Given the description of an element on the screen output the (x, y) to click on. 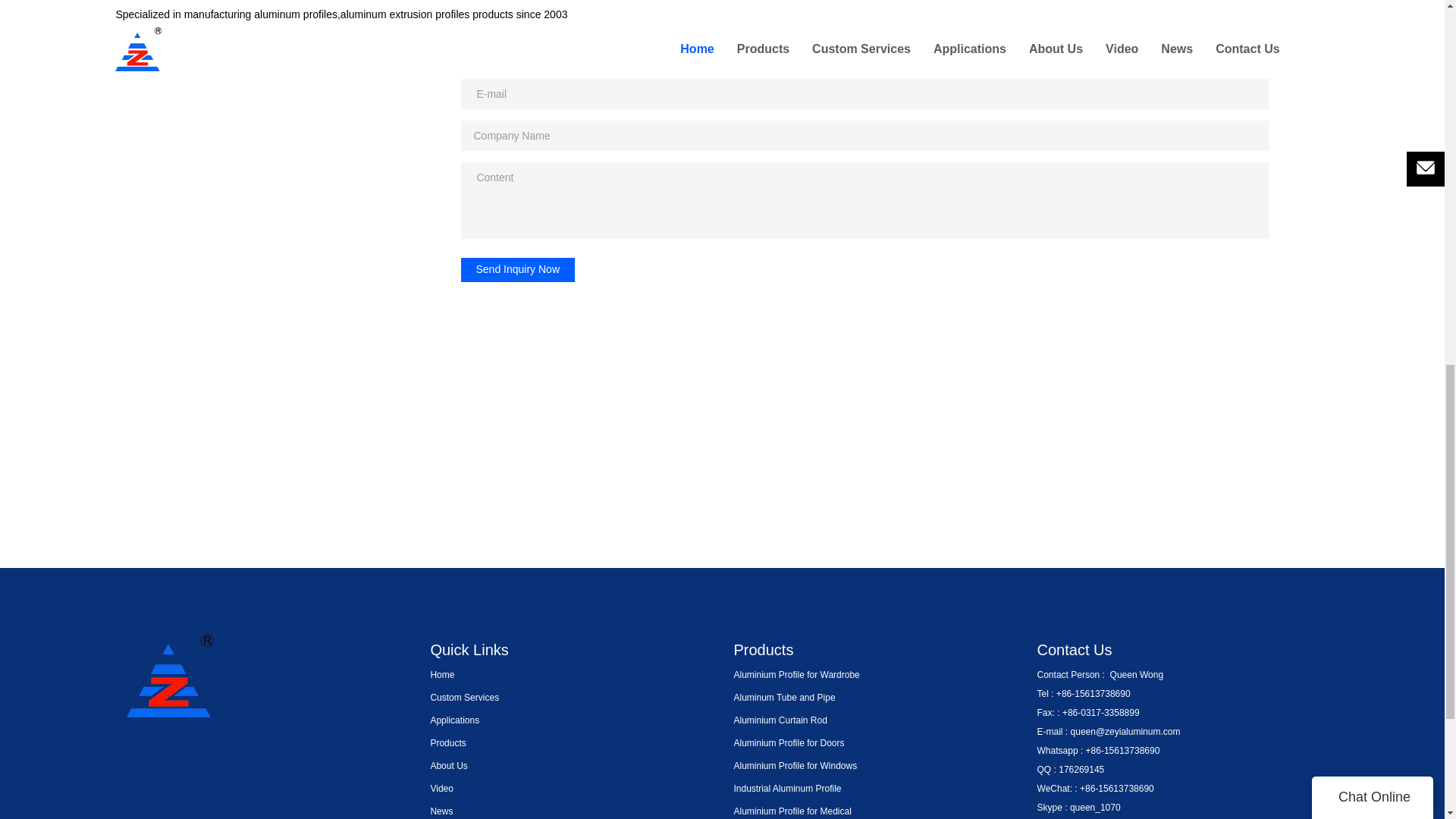
Send Inquiry Now (518, 269)
